Given the description of an element on the screen output the (x, y) to click on. 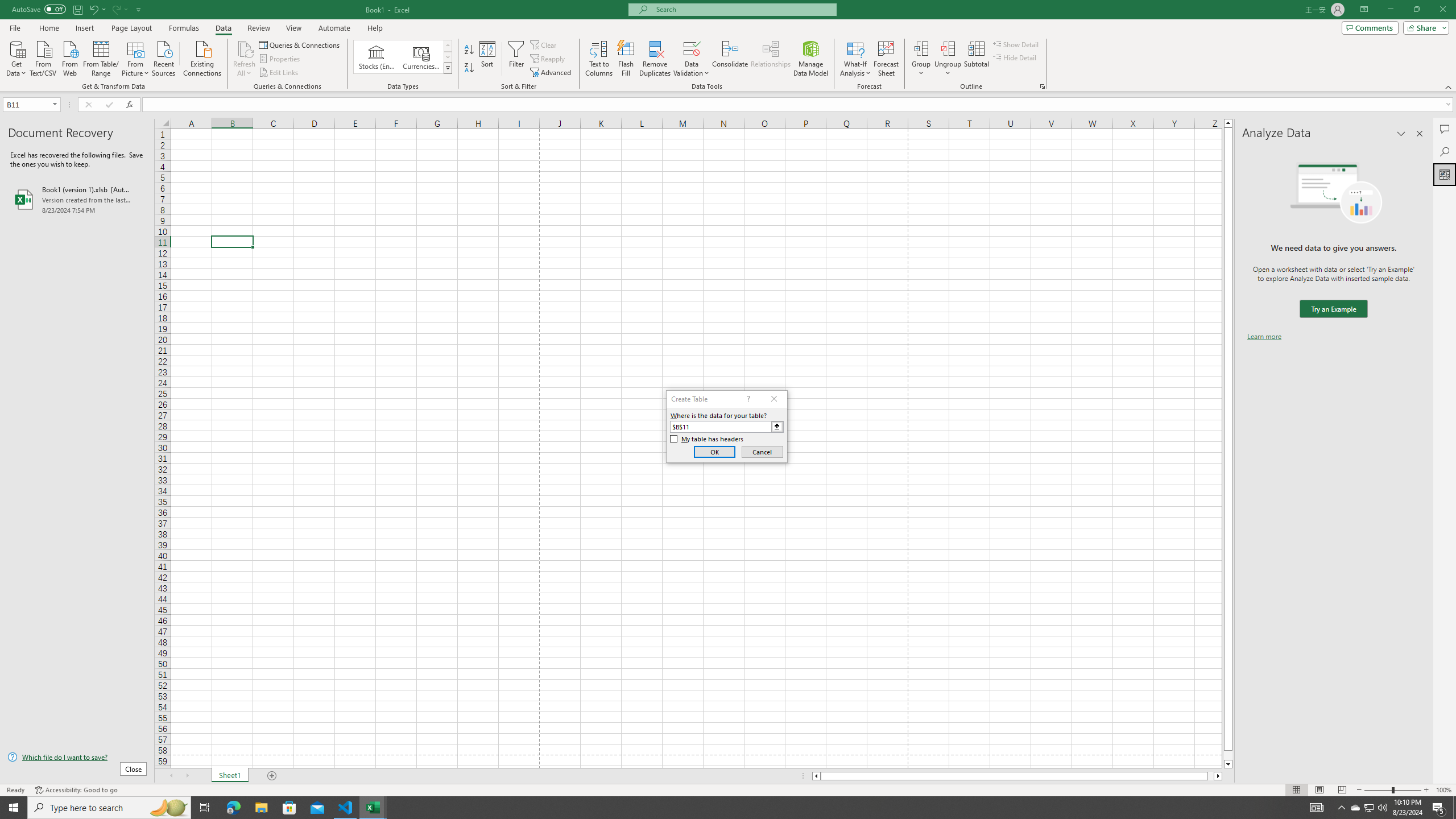
Sort A to Z (469, 49)
Subtotal (976, 58)
Sort Z to A (469, 67)
Group... (921, 48)
Collapse the Ribbon (1448, 86)
Formulas (184, 28)
Page right (1211, 775)
Class: MsoCommandBar (728, 45)
What-If Analysis (855, 58)
Stocks (English) (375, 56)
Class: NetUIScrollBar (1016, 775)
Scroll Left (171, 775)
Quick Access Toolbar (77, 9)
Remove Duplicates (654, 58)
Get Data (16, 57)
